Given the description of an element on the screen output the (x, y) to click on. 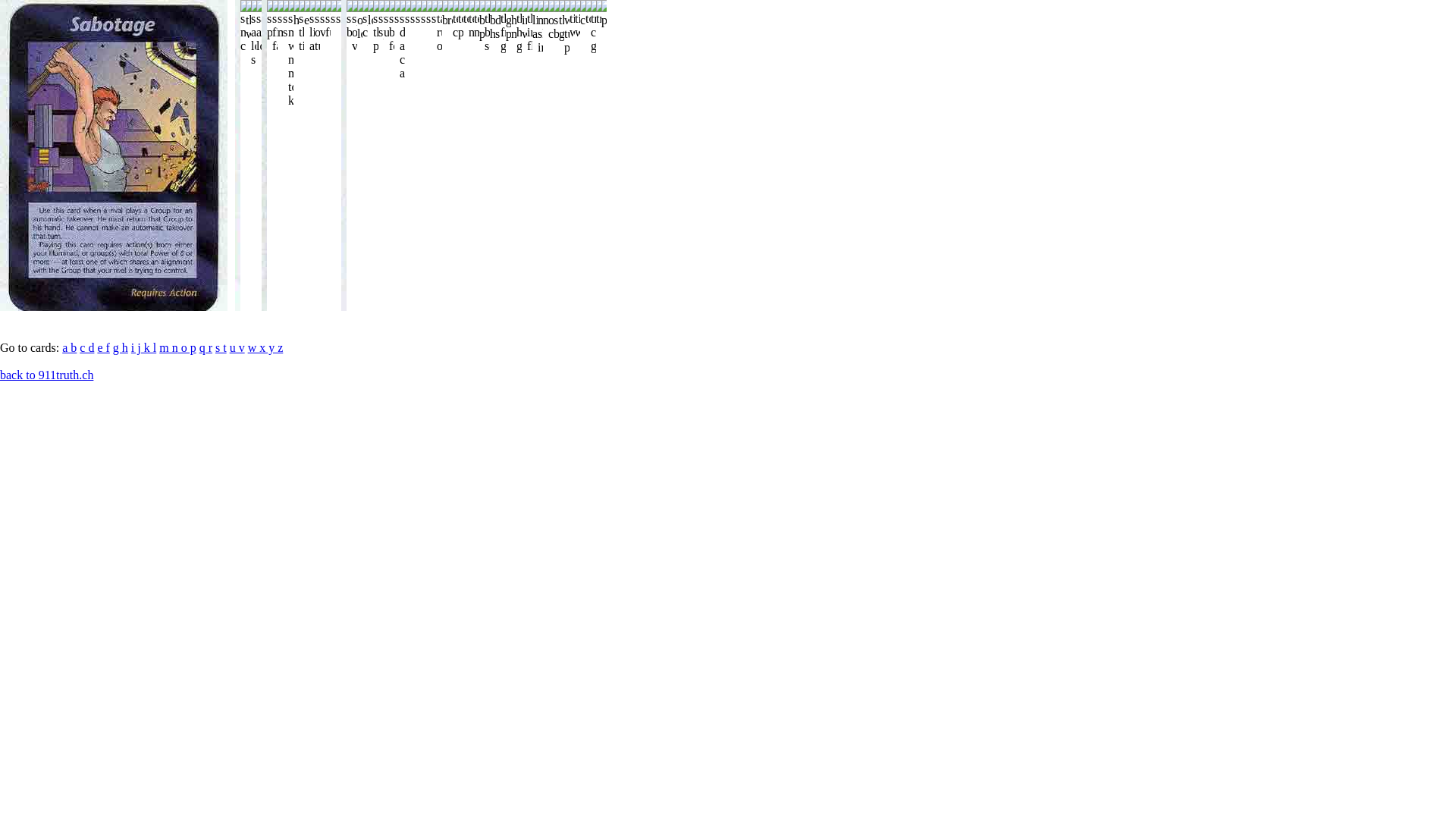
u v Element type: text (236, 347)
o p Element type: text (187, 347)
g h Element type: text (120, 347)
s t Element type: text (220, 347)
e f Element type: text (103, 347)
q r Element type: text (205, 347)
back to 911truth.ch Element type: text (46, 374)
m n Element type: text (168, 347)
a b Element type: text (69, 347)
w x y z Element type: text (265, 347)
k l Element type: text (148, 347)
c d Element type: text (86, 347)
i j Element type: text (136, 347)
